Given the description of an element on the screen output the (x, y) to click on. 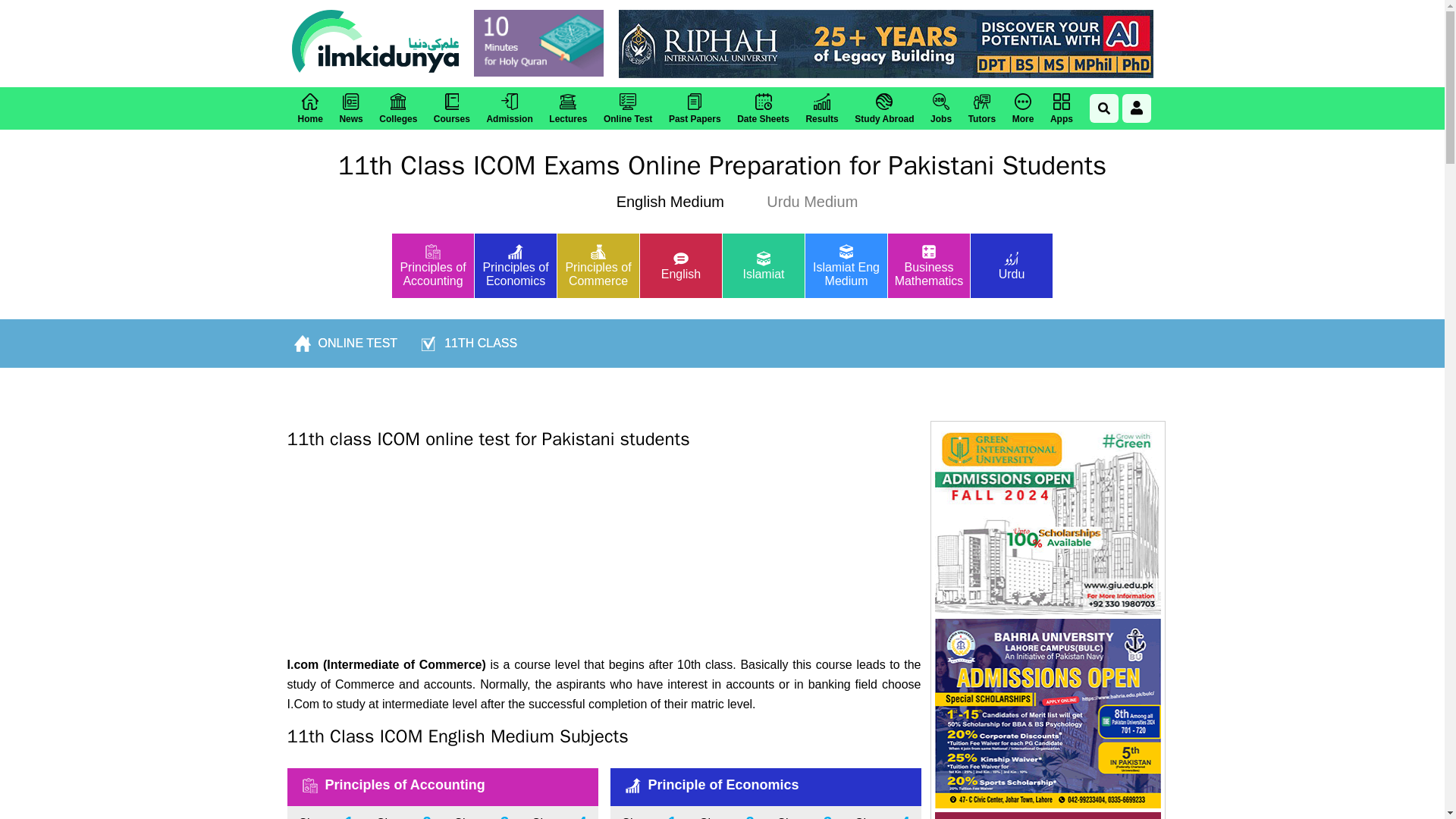
Colleges (397, 107)
Courses (451, 107)
